Given the description of an element on the screen output the (x, y) to click on. 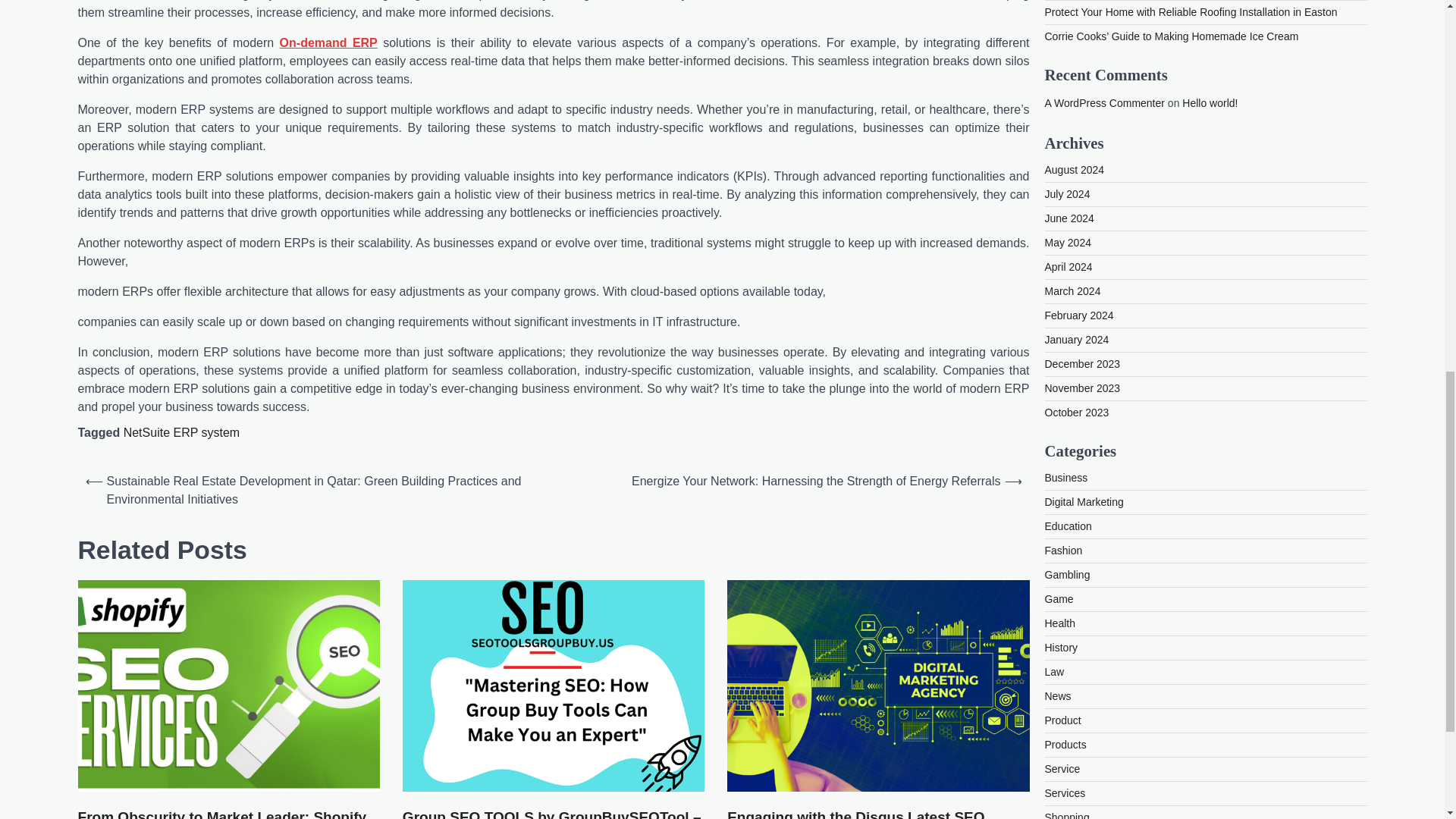
Education (1068, 1)
Fashion (1064, 20)
NetSuite ERP system (181, 431)
Gambling (1067, 44)
On-demand ERP (328, 42)
Engaging with the Disqus Latest SEO Trends for Doctors (877, 812)
